Given the description of an element on the screen output the (x, y) to click on. 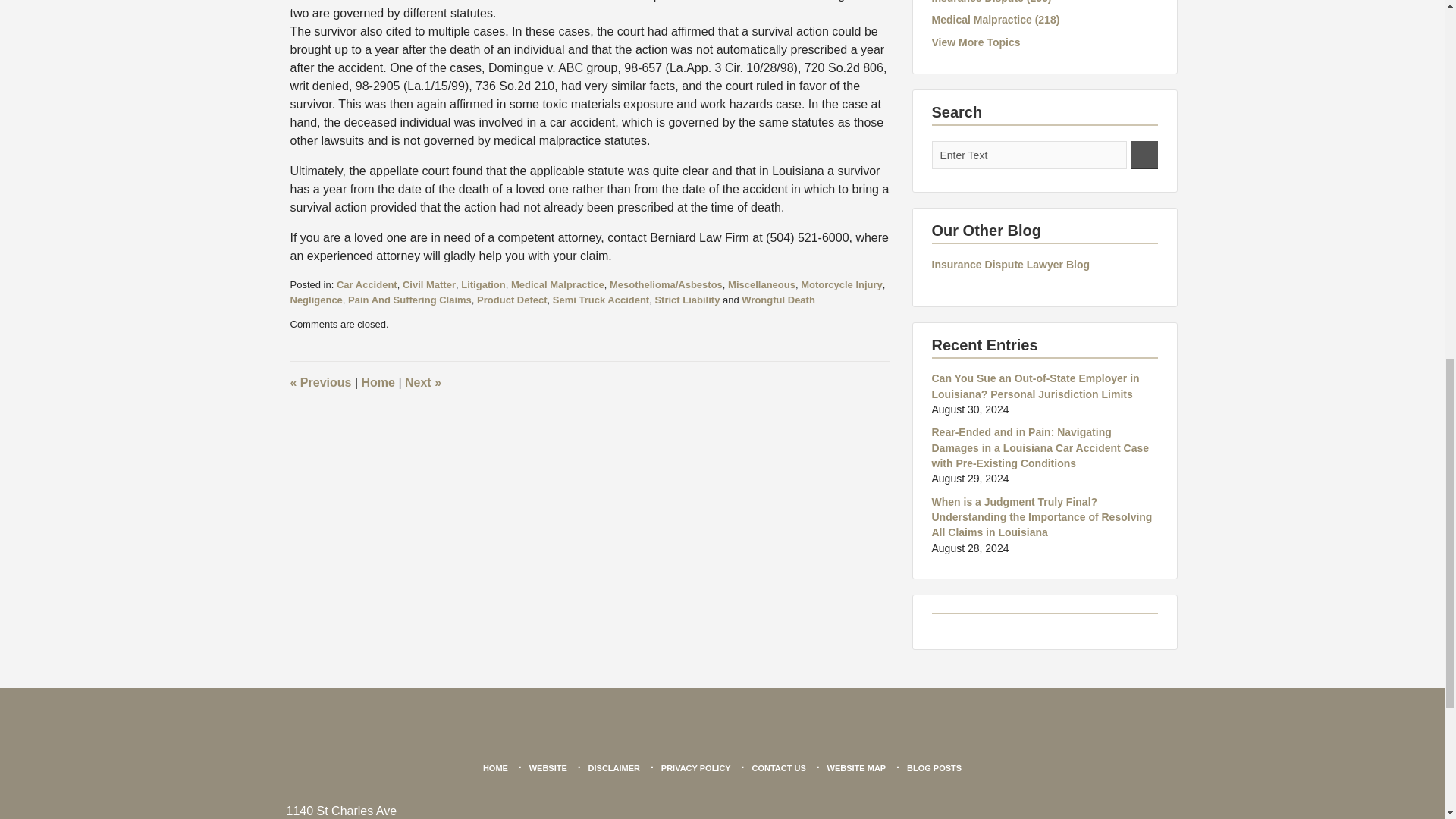
View all posts in Car Accident (366, 284)
View all posts in Pain And Suffering Claims (409, 299)
Pain And Suffering Claims (409, 299)
Litigation (483, 284)
Product Defect (512, 299)
View all posts in Civil Matter (429, 284)
View all posts in Semi Truck Accident (601, 299)
Medical Malpractice (557, 284)
View all posts in Product Defect (512, 299)
Motorcycle Injury (841, 284)
